Given the description of an element on the screen output the (x, y) to click on. 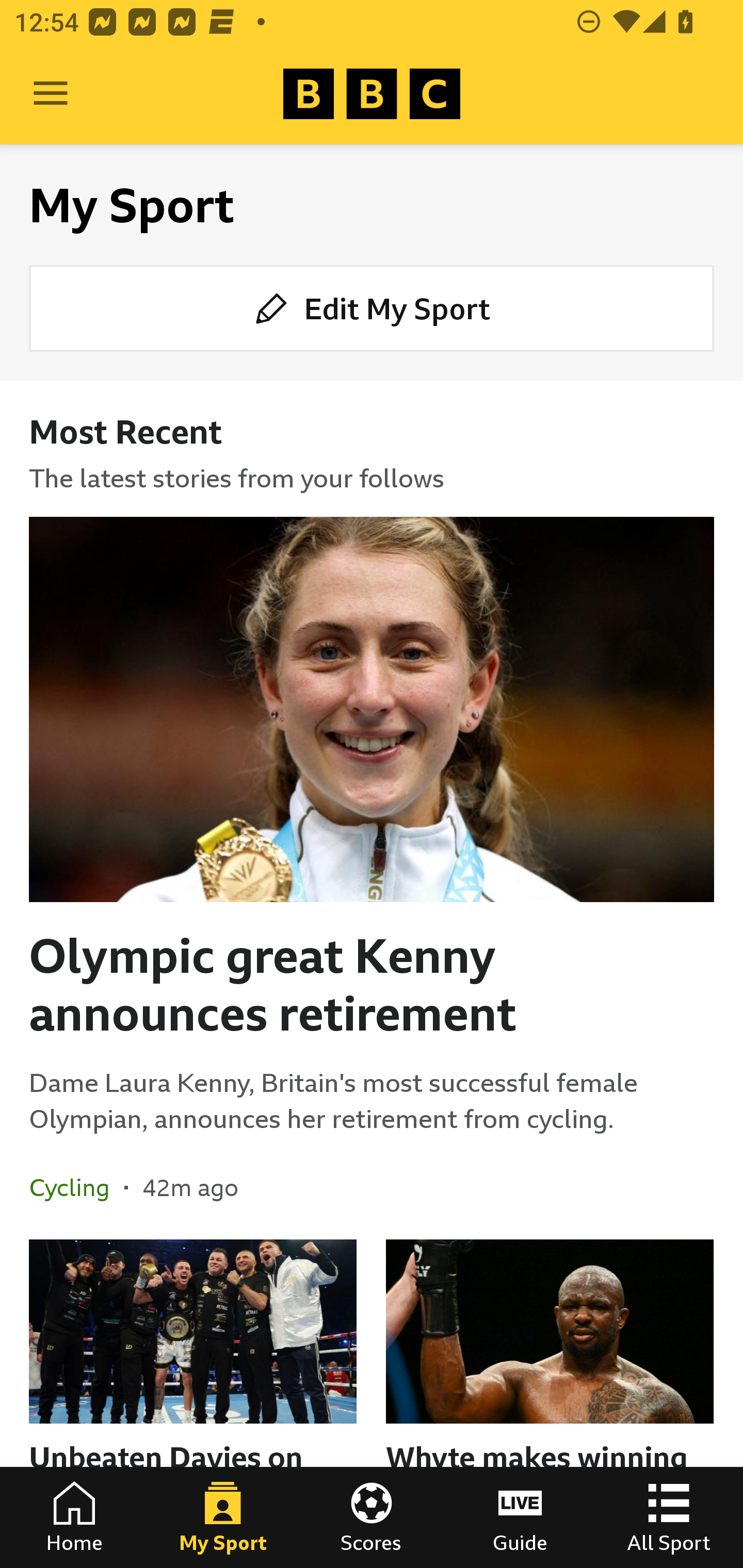
Open Menu (50, 93)
Edit My Sport (371, 307)
Home (74, 1517)
Scores (371, 1517)
Guide (519, 1517)
All Sport (668, 1517)
